Given the description of an element on the screen output the (x, y) to click on. 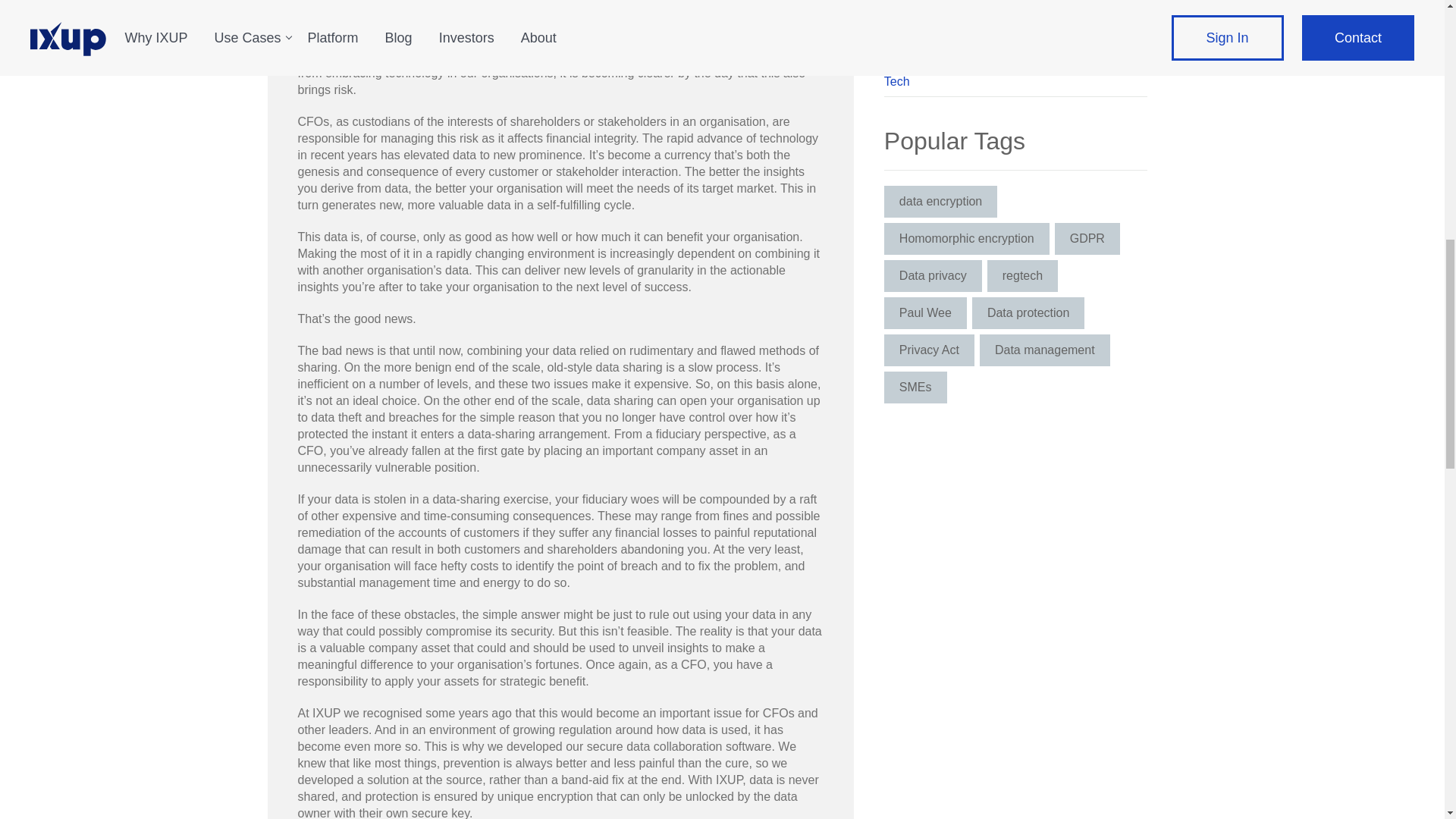
Multi-Party Computation (1015, 4)
Privacy (1015, 22)
